Given the description of an element on the screen output the (x, y) to click on. 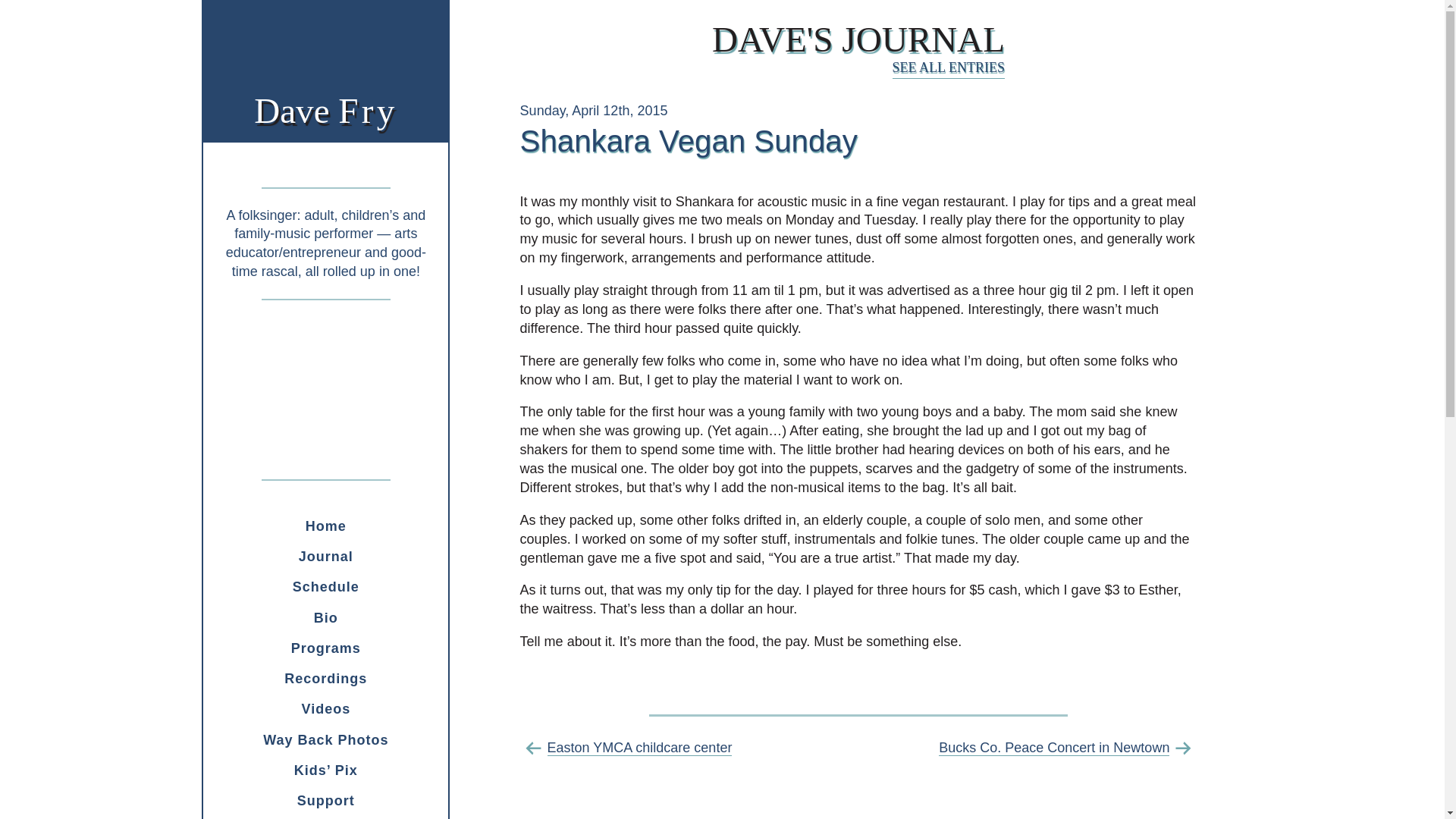
Recordings (325, 678)
Dave Fry (325, 110)
Contact (325, 817)
Home (325, 526)
Bio (857, 39)
Programs (325, 617)
Schedule (325, 648)
Videos (325, 586)
Way Back Photos (325, 708)
